Given the description of an element on the screen output the (x, y) to click on. 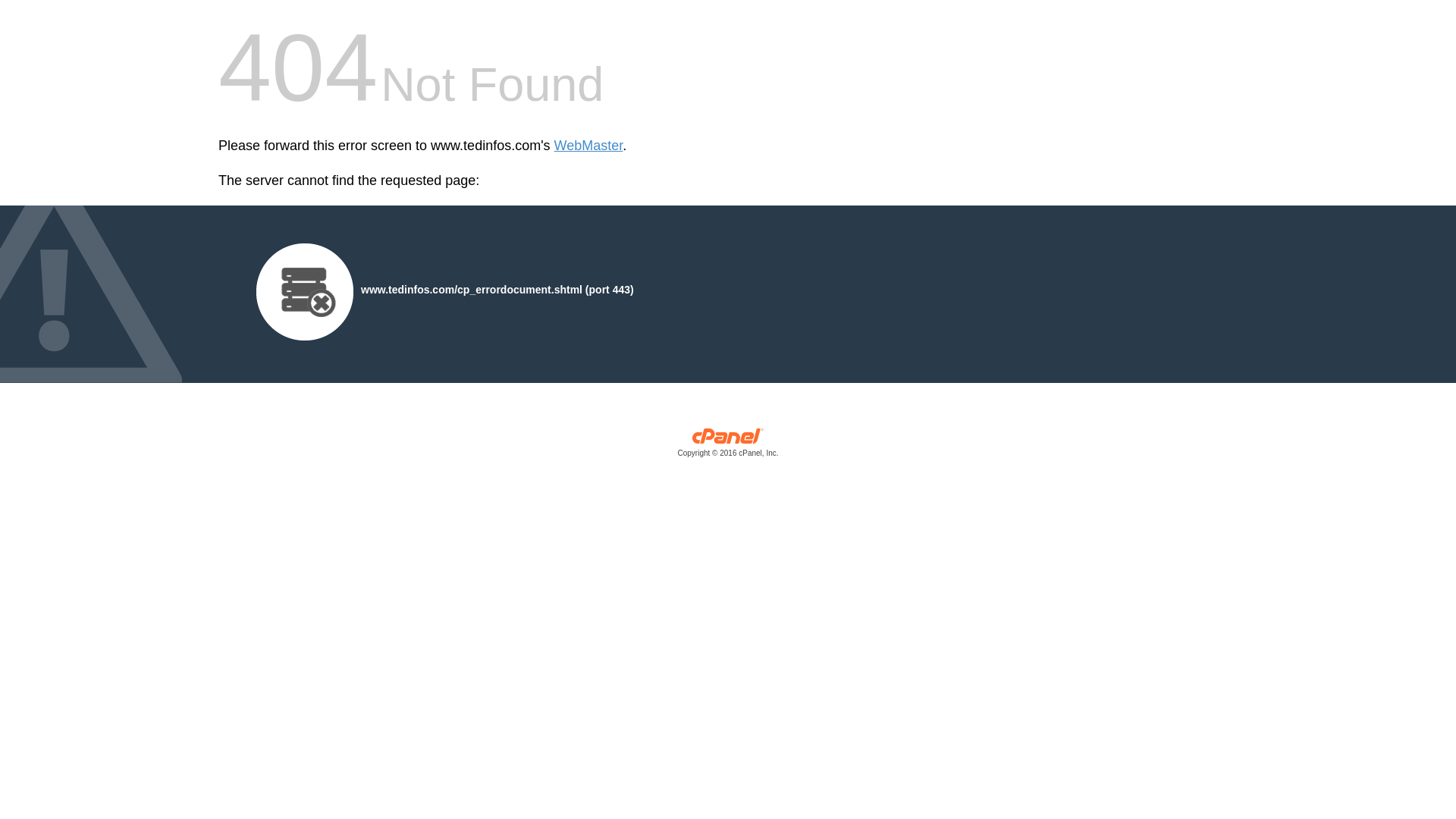
WebMaster (588, 145)
cPanel, Inc. (727, 446)
